Given the description of an element on the screen output the (x, y) to click on. 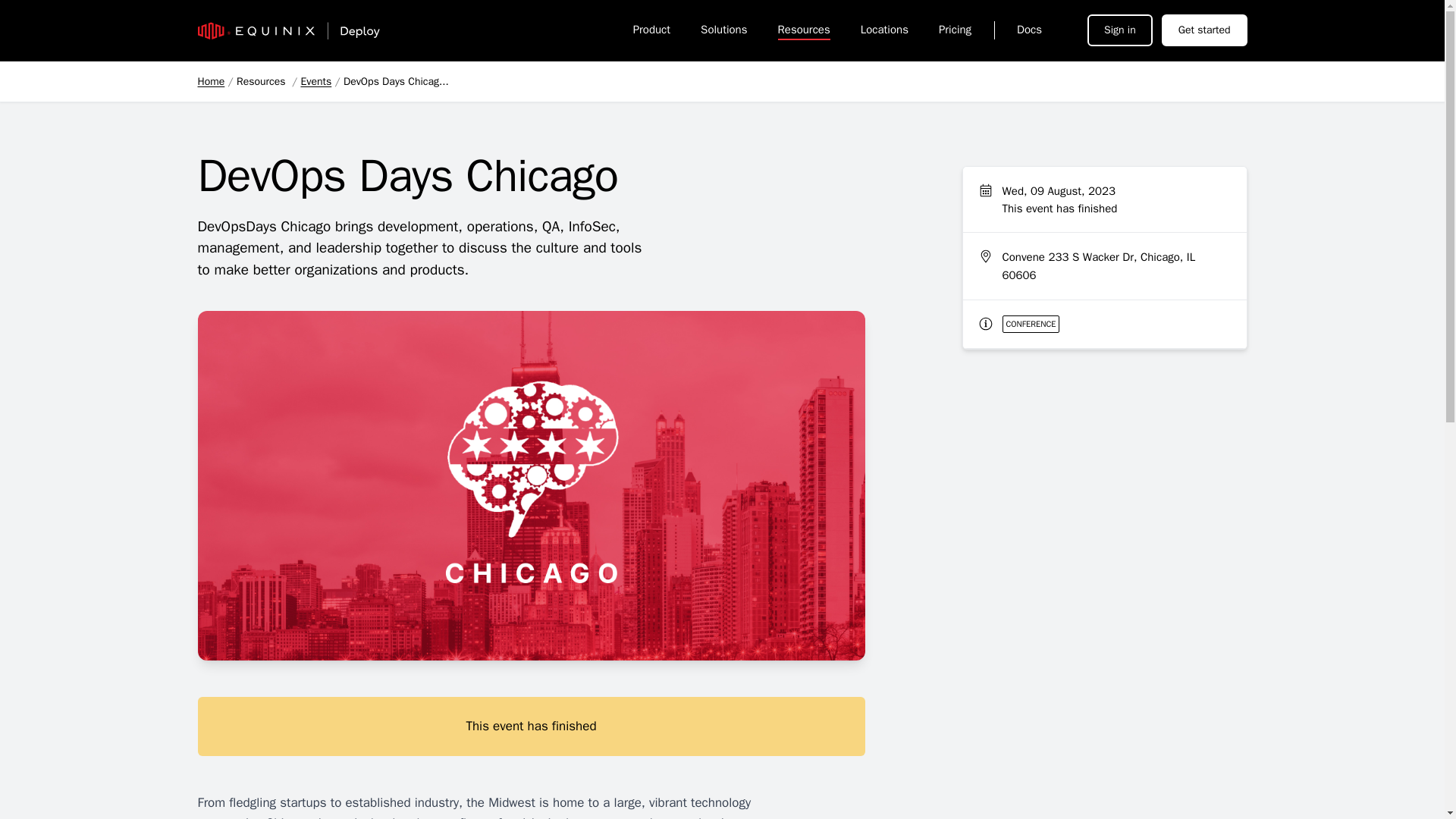
Solutions (723, 29)
Pricing (955, 29)
Docs (1022, 29)
Locations (884, 29)
Product (651, 29)
Resources (803, 30)
